Given the description of an element on the screen output the (x, y) to click on. 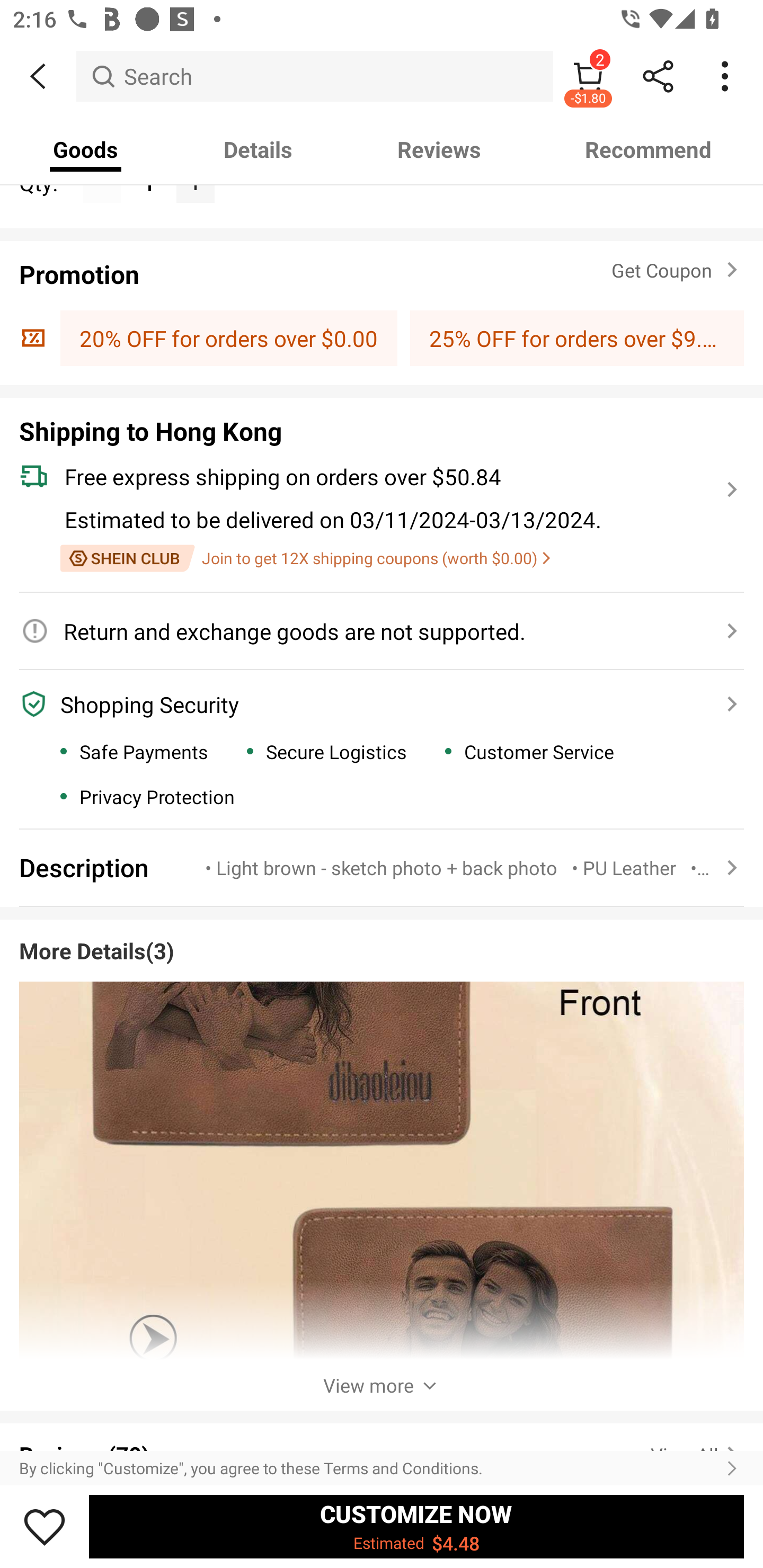
BACK (38, 75)
2 -$1.80 (588, 75)
Search (314, 75)
Goods (85, 149)
Details (257, 149)
Reviews (439, 149)
Recommend (648, 149)
Join to get 12X shipping coupons (worth $0.00) (305, 558)
Return and exchange goods are not supported. (370, 630)
More Details(3) View more (381, 1158)
View more (381, 1385)
CUSTOMIZE NOW Estimated   $4.48 (416, 1526)
Save (44, 1526)
